Given the description of an element on the screen output the (x, y) to click on. 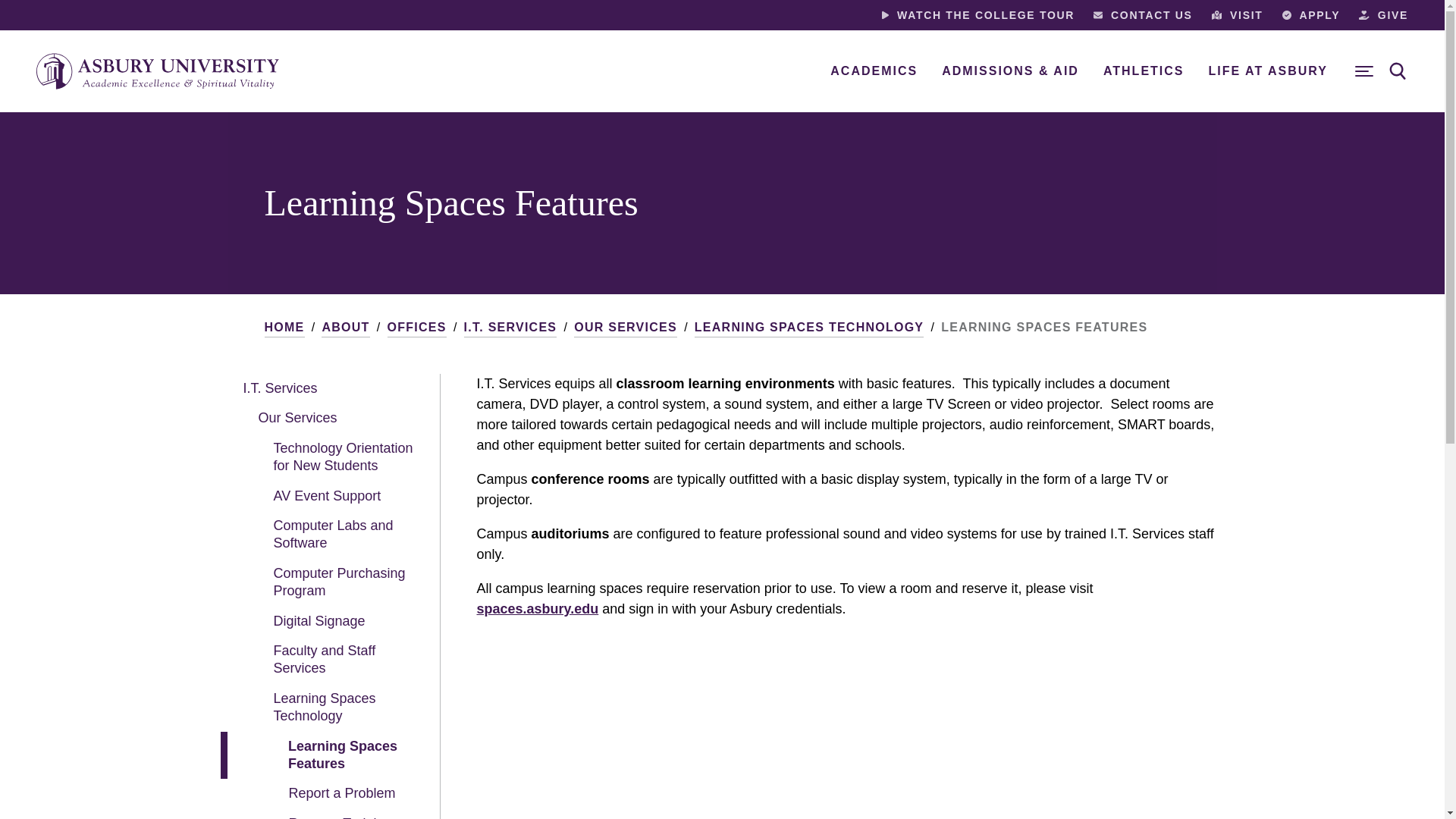
CONTACT US (1142, 15)
WATCH THE COLLEGE TOUR (978, 15)
OUR SERVICES (625, 327)
Our Services (326, 418)
VISIT (1237, 15)
ACADEMICS (873, 70)
HOME (283, 327)
Asbury University (157, 71)
APPLY (1311, 15)
ATHLETICS (1144, 70)
LIFE AT ASBURY (1267, 70)
ABOUT (345, 327)
Search (1398, 71)
OFFICES (416, 327)
GIVE (1382, 15)
